Given the description of an element on the screen output the (x, y) to click on. 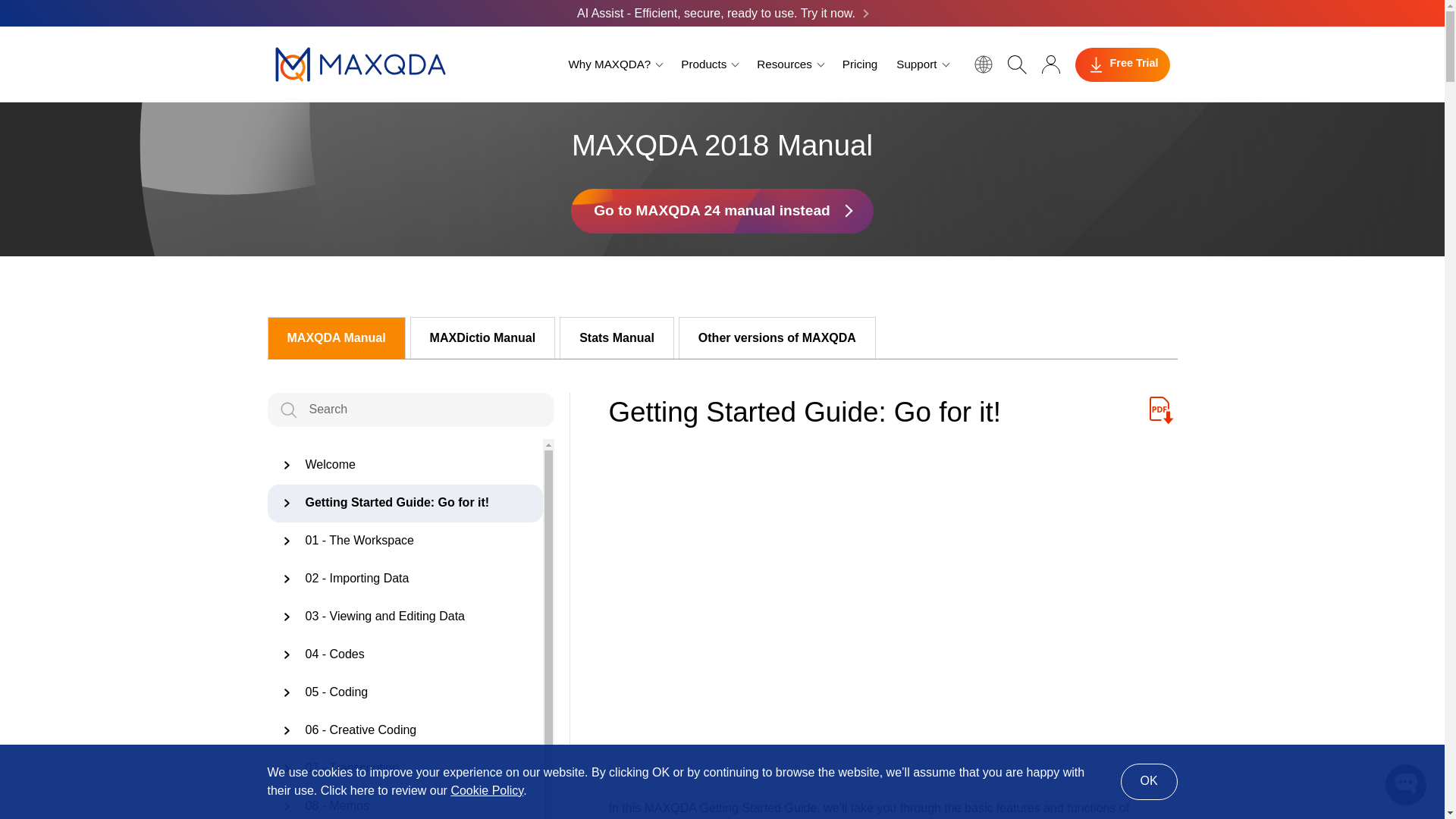
AI Assist - Efficient, secure, ready to use. Try it now. (721, 13)
